Given the description of an element on the screen output the (x, y) to click on. 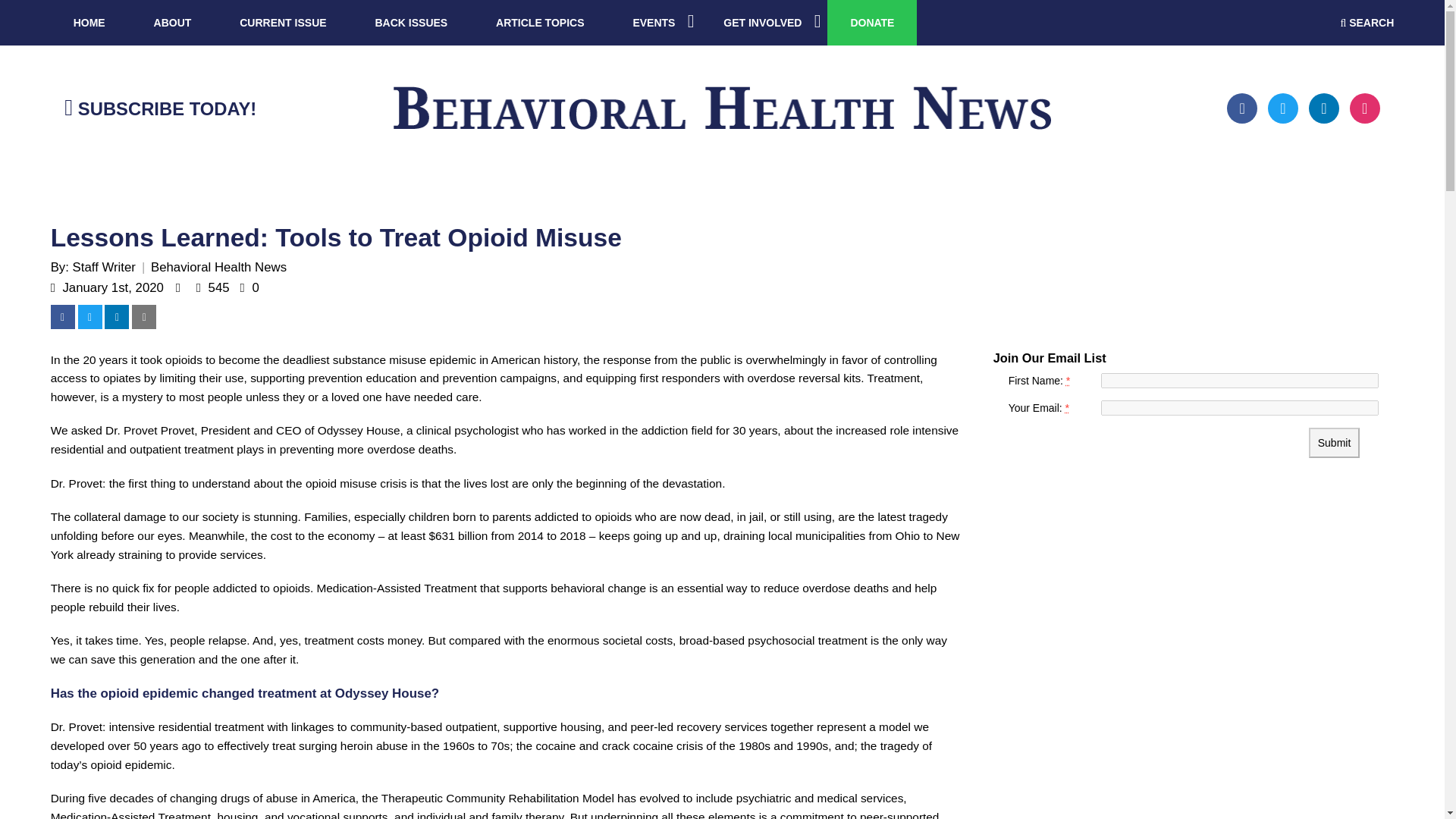
ARTICLE TOPICS (539, 22)
Staff Writer (108, 267)
BACK ISSUES (410, 22)
GET INVOLVED (762, 22)
SUBSCRIBE TODAY! (160, 108)
Behavioral Health News (218, 267)
CURRENT ISSUE (283, 22)
DONATE (871, 22)
EVENTS (653, 22)
Submit (1333, 442)
SEARCH (1367, 22)
